Given the description of an element on the screen output the (x, y) to click on. 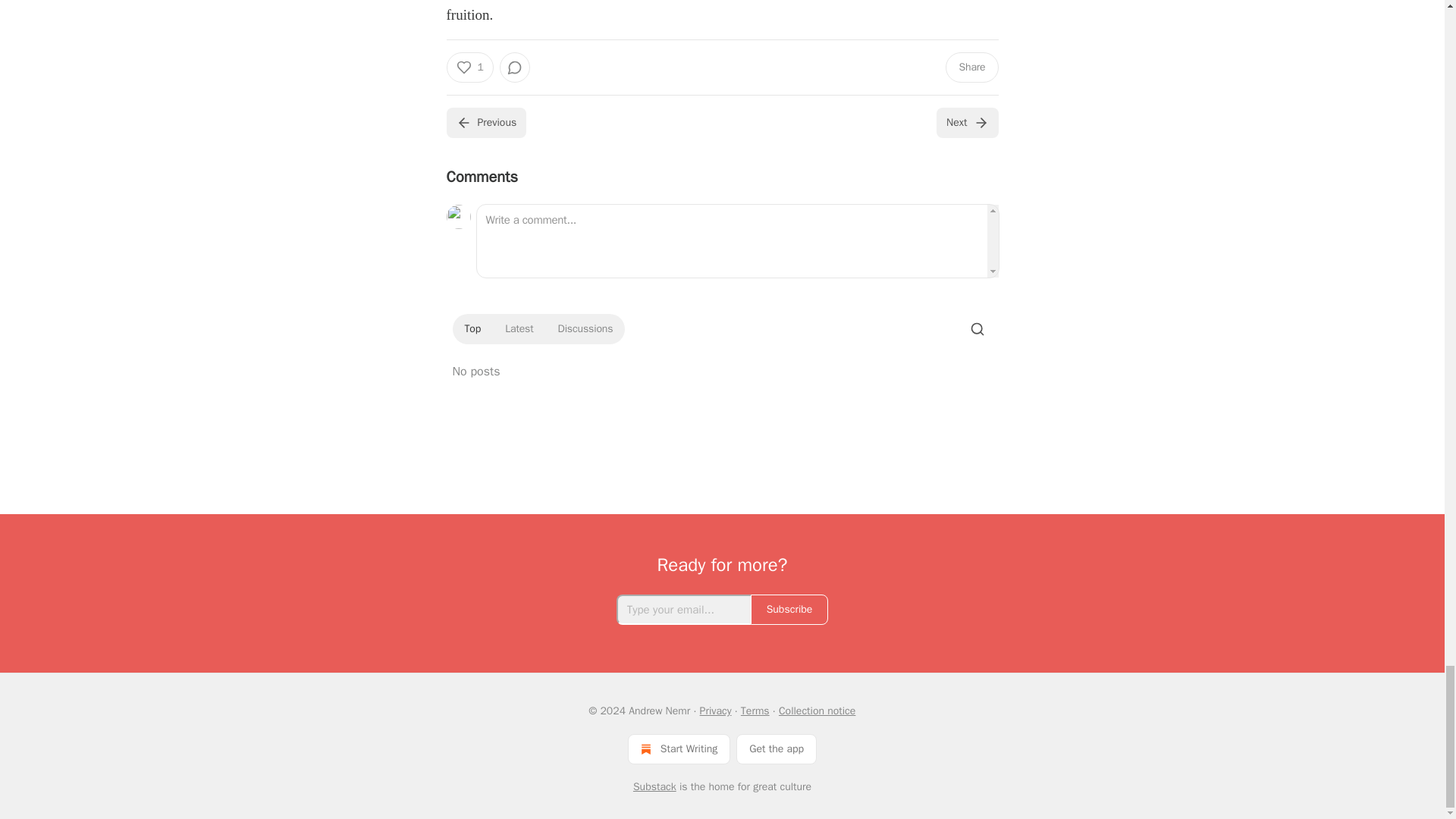
Next (966, 122)
Discussions (585, 328)
1 (469, 67)
Privacy (716, 710)
Latest (518, 328)
Subscribe (789, 609)
Share (970, 67)
Previous (485, 122)
Terms (755, 710)
Top (471, 328)
